Given the description of an element on the screen output the (x, y) to click on. 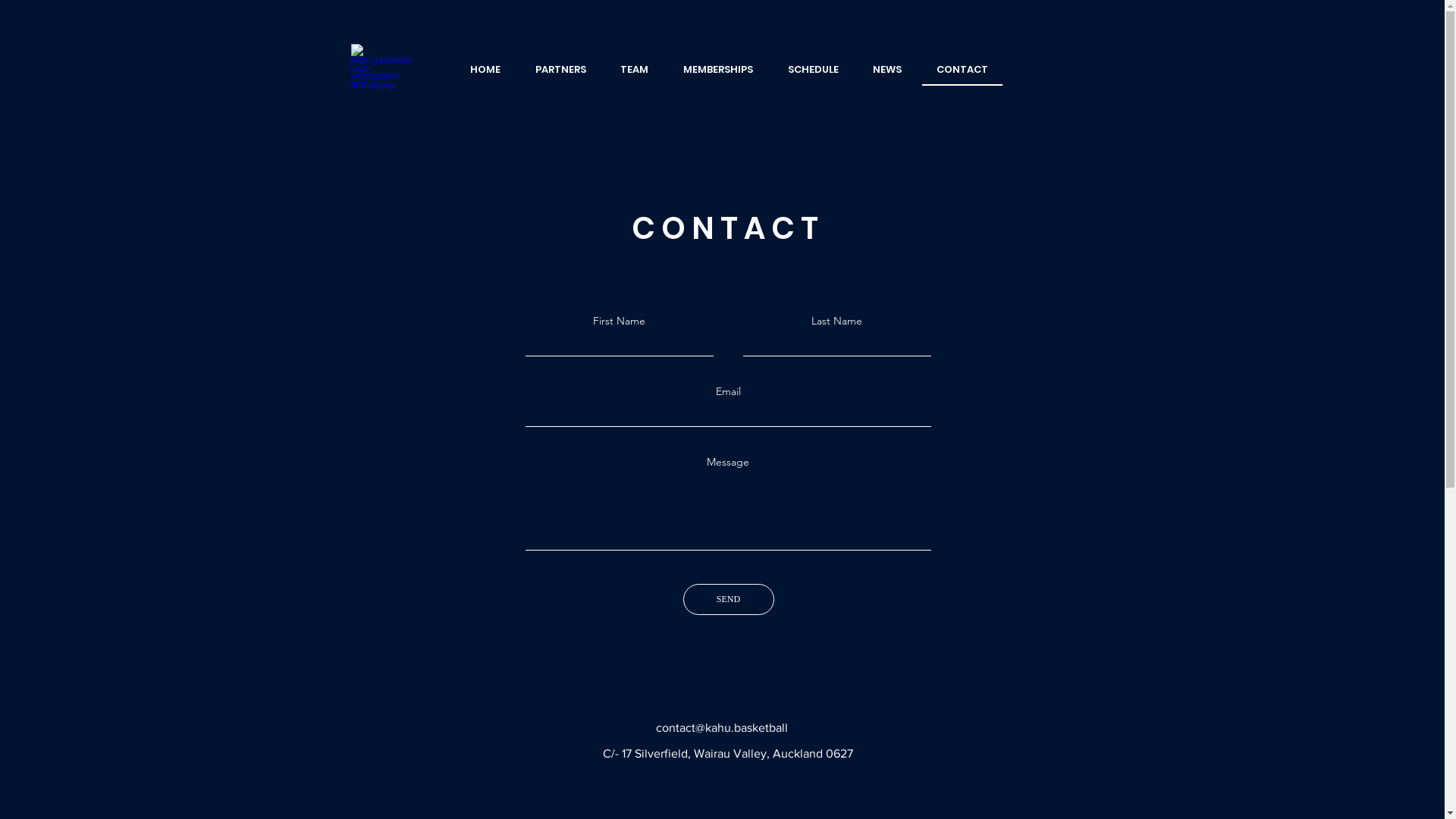
TEAM Element type: text (634, 69)
CONTACT Element type: text (962, 69)
NEWS Element type: text (887, 69)
SEND Element type: text (727, 599)
SCHEDULE Element type: text (813, 69)
MEMBERSHIPS Element type: text (717, 69)
PARTNERS Element type: text (560, 69)
contact@kahu.basketball Element type: text (721, 727)
HOME Element type: text (485, 69)
